Given the description of an element on the screen output the (x, y) to click on. 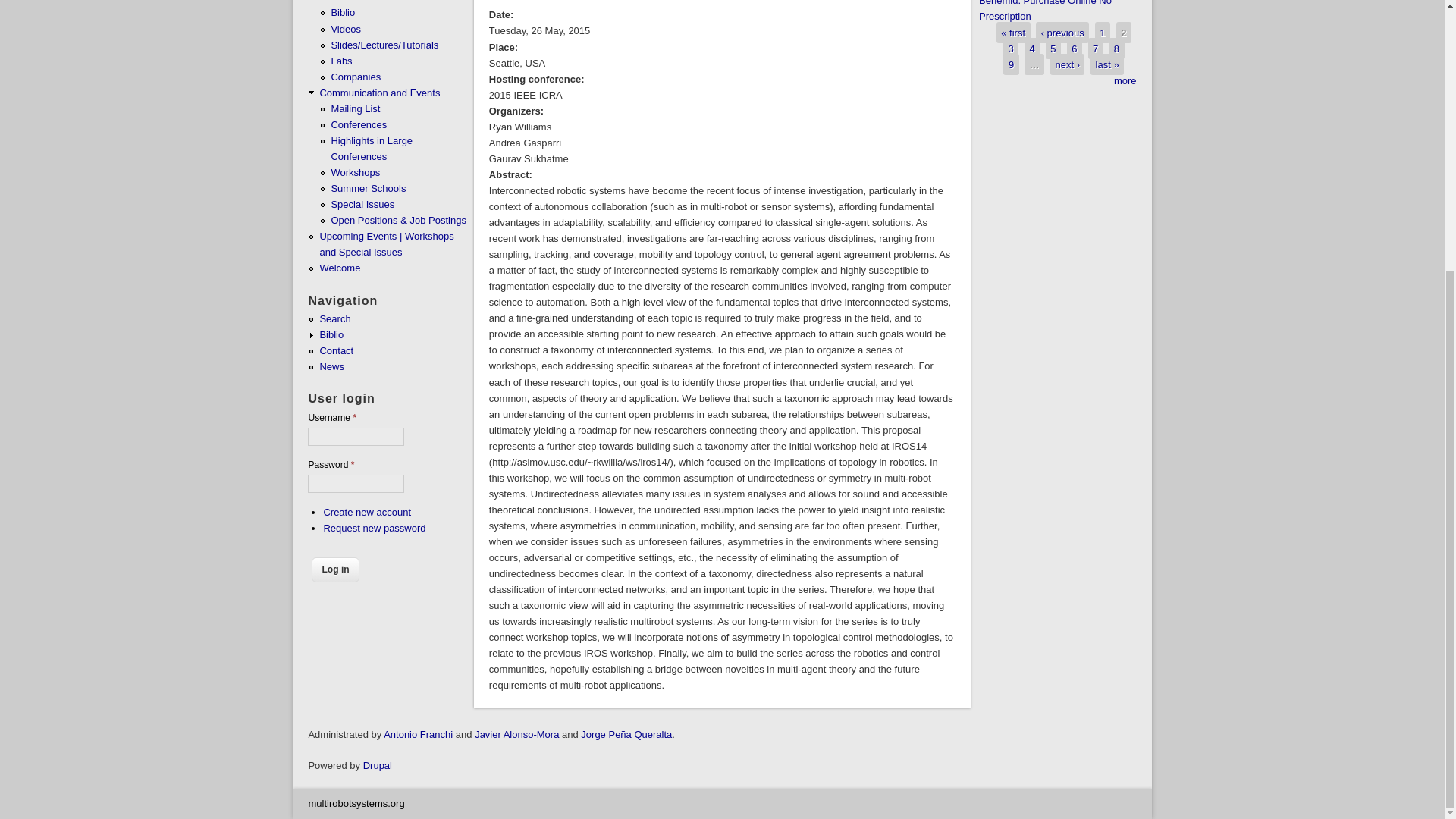
Log in (334, 569)
